Given the description of an element on the screen output the (x, y) to click on. 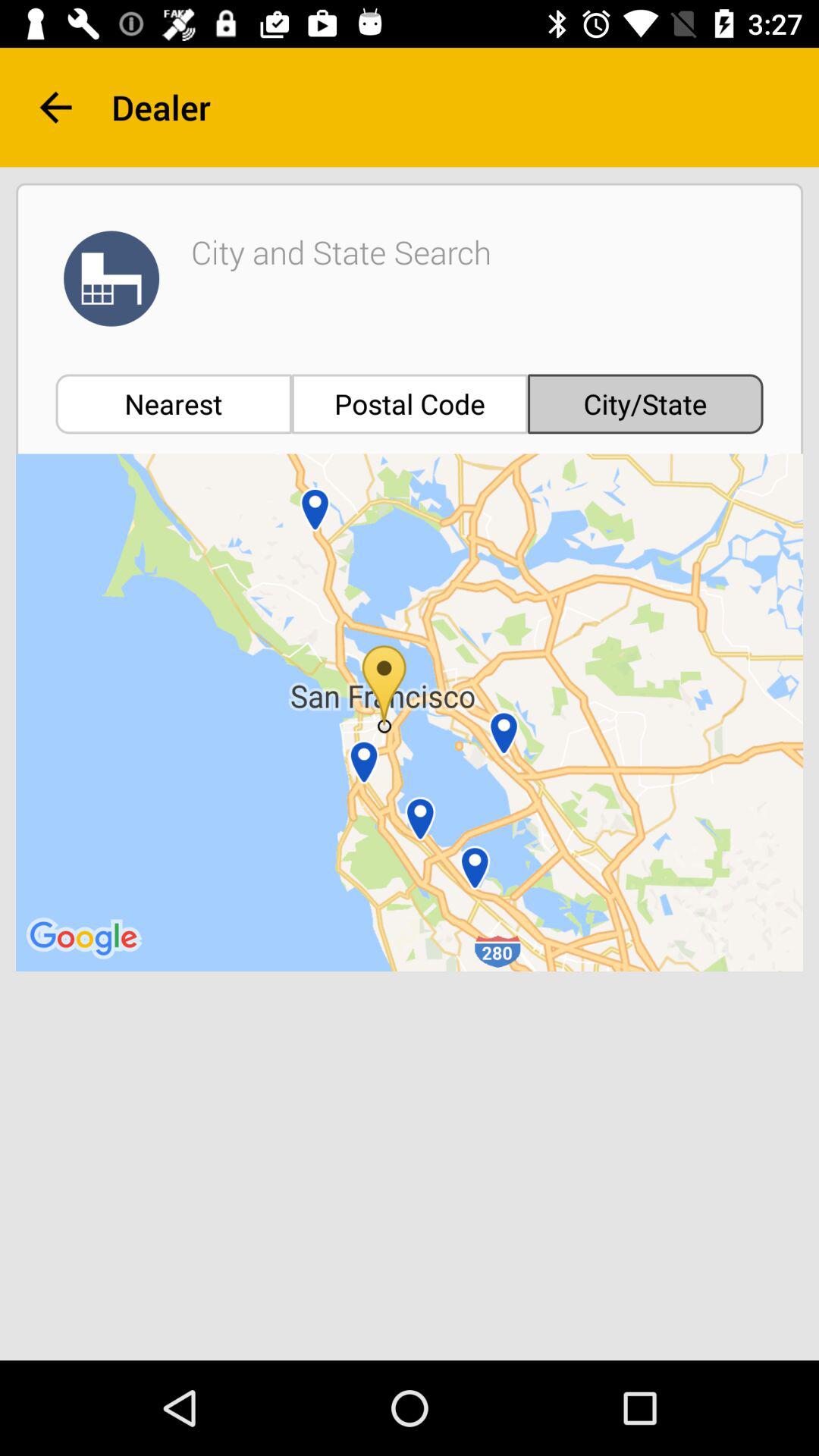
choose the item below the nearest (409, 712)
